Given the description of an element on the screen output the (x, y) to click on. 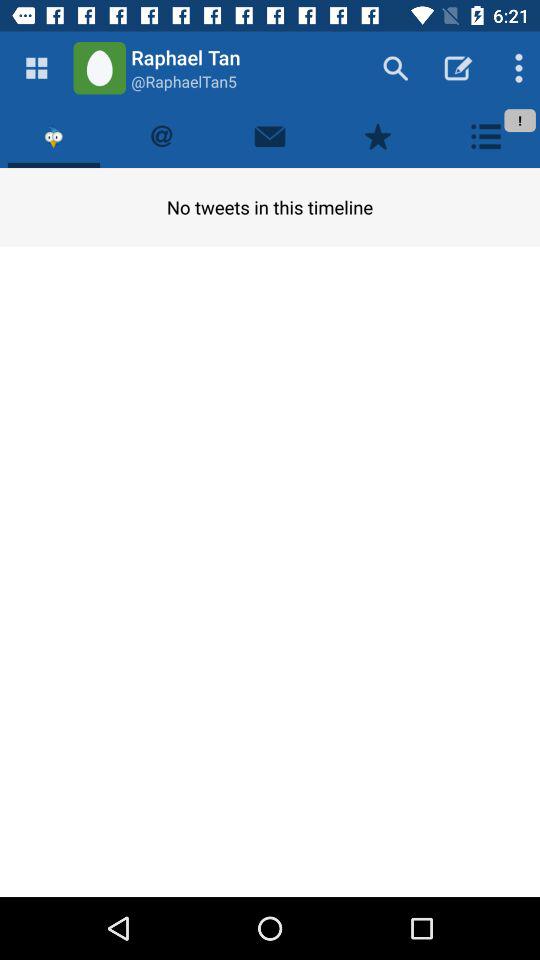
open mentions from others (162, 136)
